Given the description of an element on the screen output the (x, y) to click on. 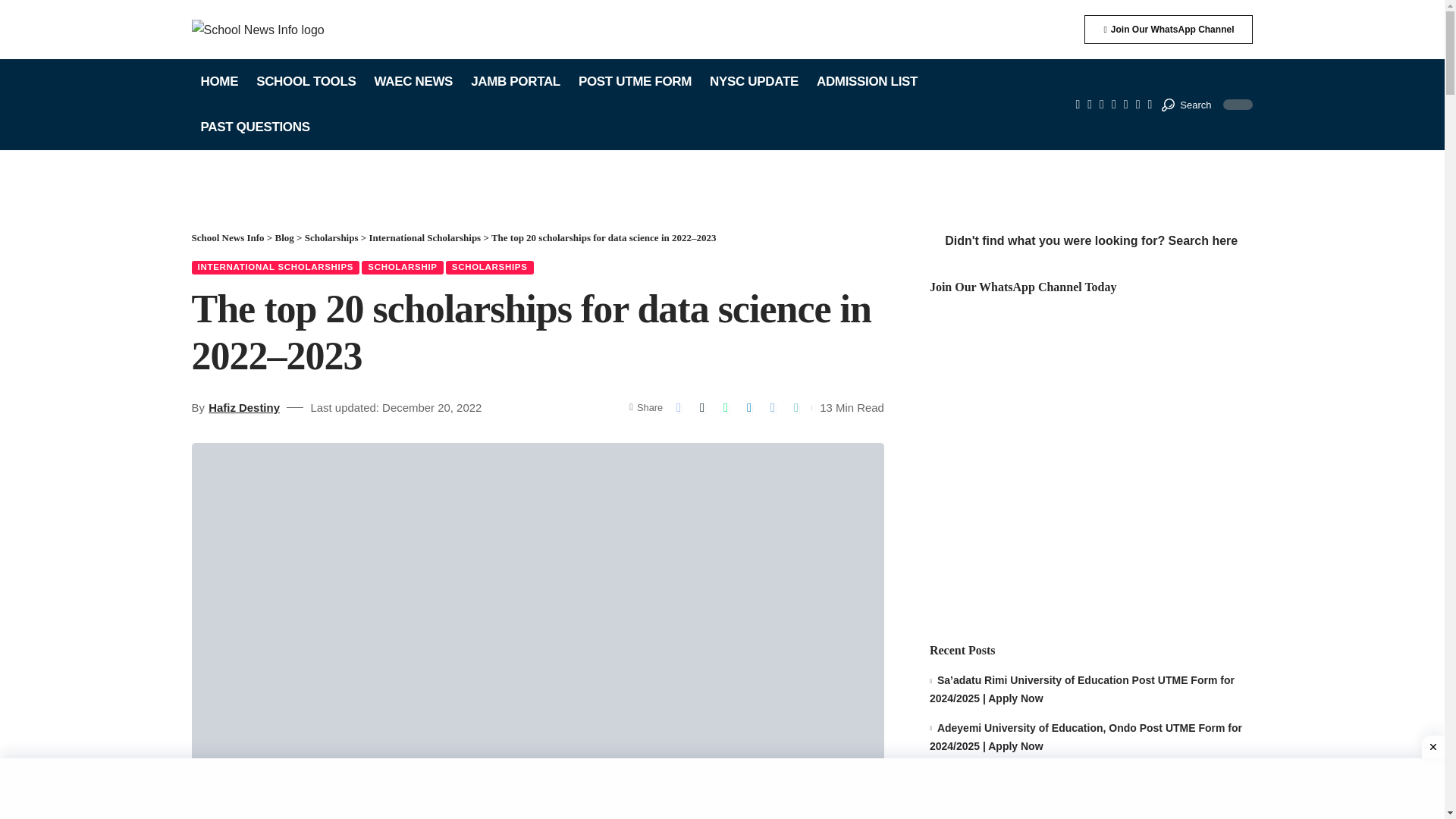
PAST QUESTIONS (254, 126)
Go to the International Scholarships Category archives. (424, 237)
Go to School News Info. (226, 237)
Search (1186, 104)
Go to the Scholarships Category archives. (331, 237)
ADMISSION LIST (867, 81)
JAMB PORTAL (515, 81)
HOME (218, 81)
POST UTME FORM (634, 81)
Go to Blog. (284, 237)
SCHOOL TOOLS (306, 81)
Join Our WhatsApp Channel (1168, 29)
NYSC UPDATE (754, 81)
WAEC NEWS (413, 81)
